Given the description of an element on the screen output the (x, y) to click on. 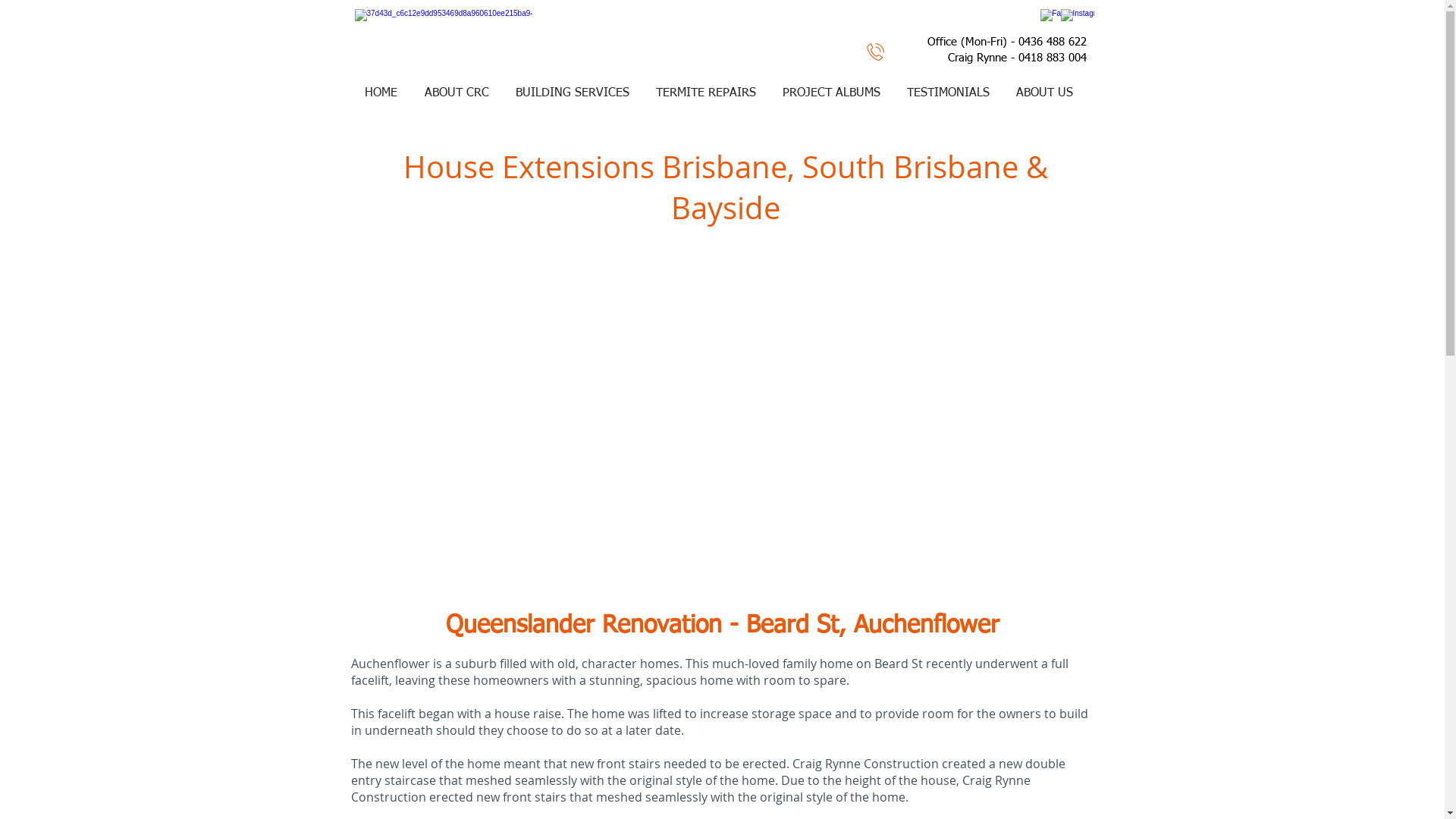
TESTIMONIALS Element type: text (947, 93)
TERMITE REPAIRS Element type: text (706, 93)
HOME Element type: text (380, 93)
PROJECT ALBUMS Element type: text (830, 93)
BUILDING SERVICES Element type: text (572, 93)
